Given the description of an element on the screen output the (x, y) to click on. 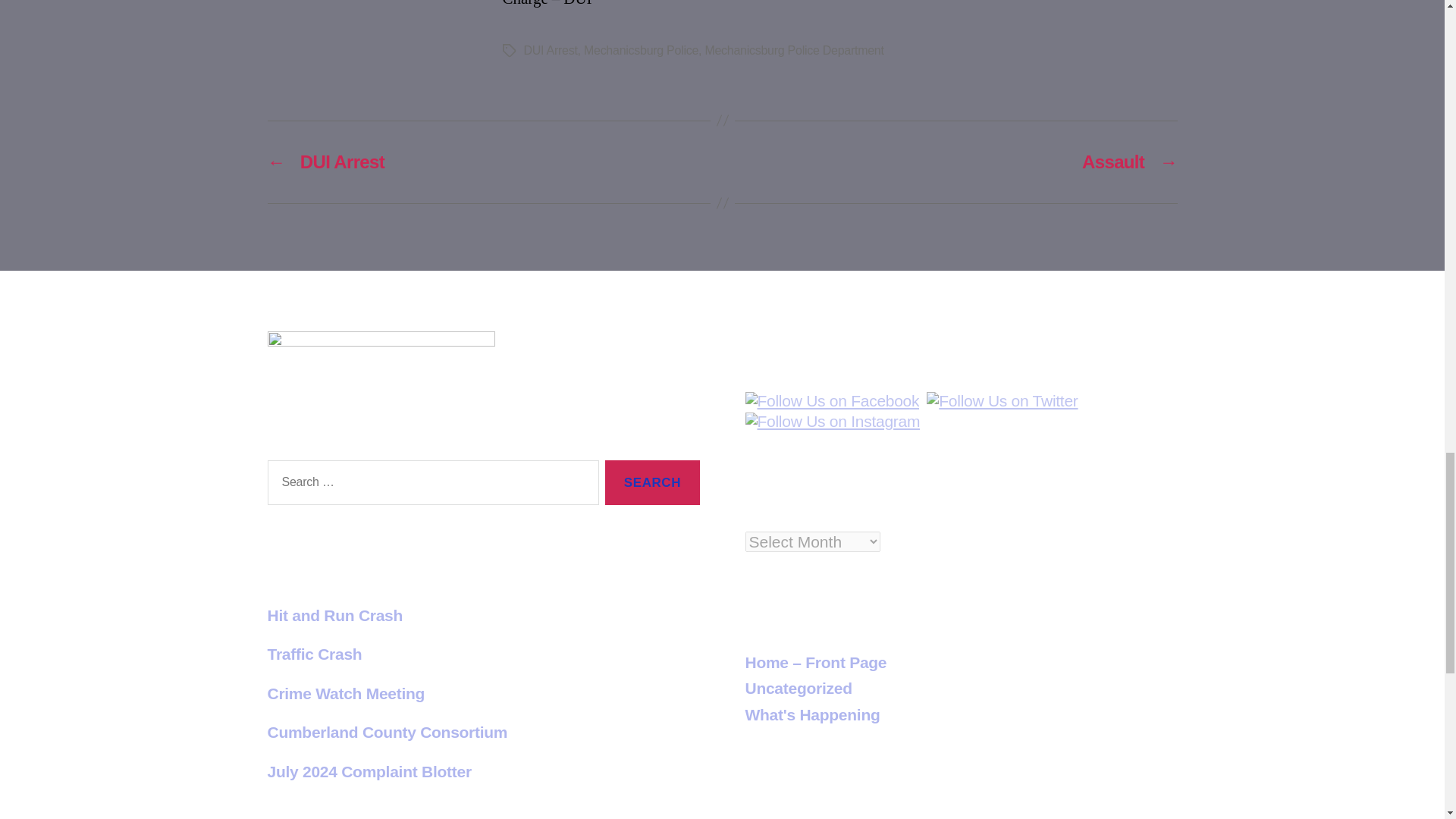
Search (651, 482)
Follow Us on Twitter (1001, 401)
Search (651, 482)
Follow Us on Instagram (832, 421)
Follow Us on Facebook (831, 401)
